Given the description of an element on the screen output the (x, y) to click on. 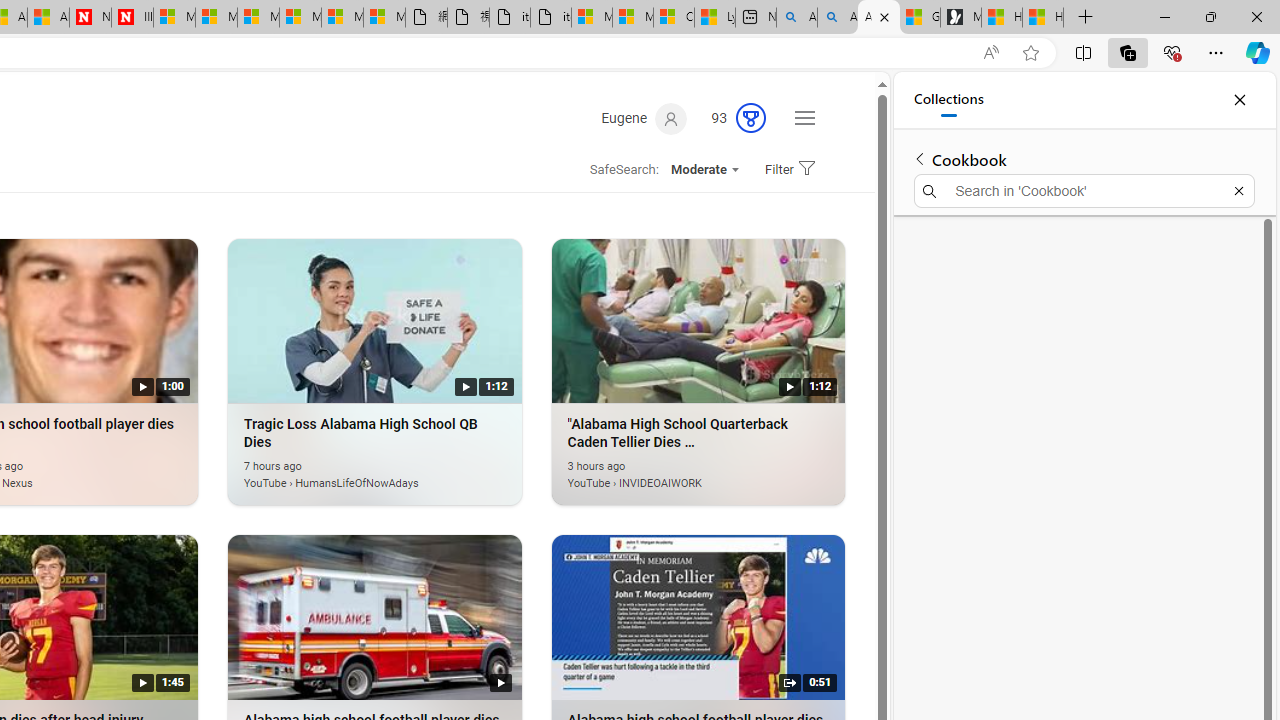
Back to list of collections (920, 158)
Exit search (1238, 190)
Tragic Loss Alabama High School QB Dies (349, 472)
